Given the description of an element on the screen output the (x, y) to click on. 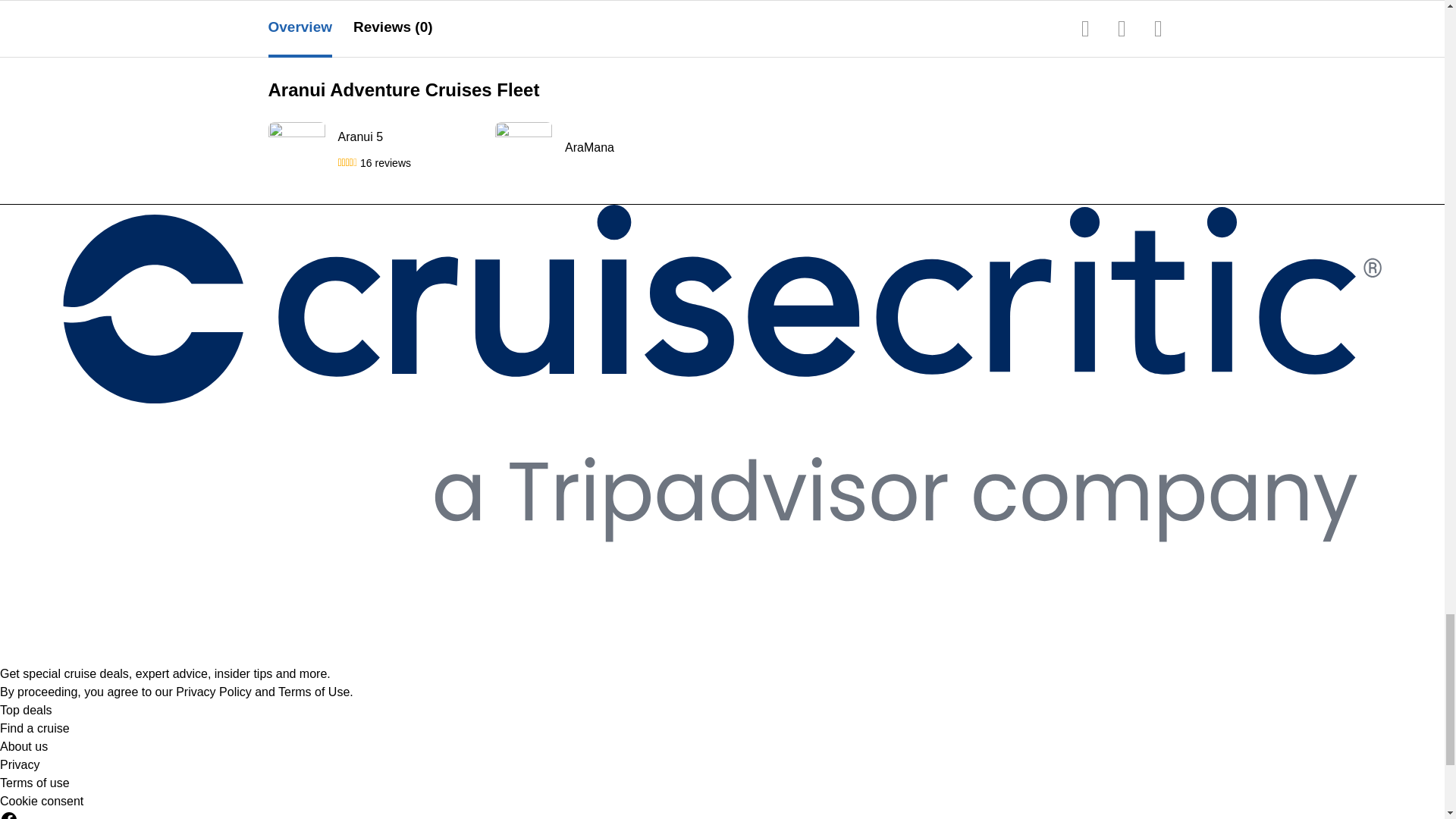
About us (24, 746)
Find a cruise (34, 727)
AraMana (637, 147)
Privacy Policy (213, 691)
Terms of Use (313, 691)
Terms of use (34, 782)
Cookie consent (41, 801)
Top deals (26, 709)
Aranui 5 (410, 136)
16 reviews (384, 162)
